Given the description of an element on the screen output the (x, y) to click on. 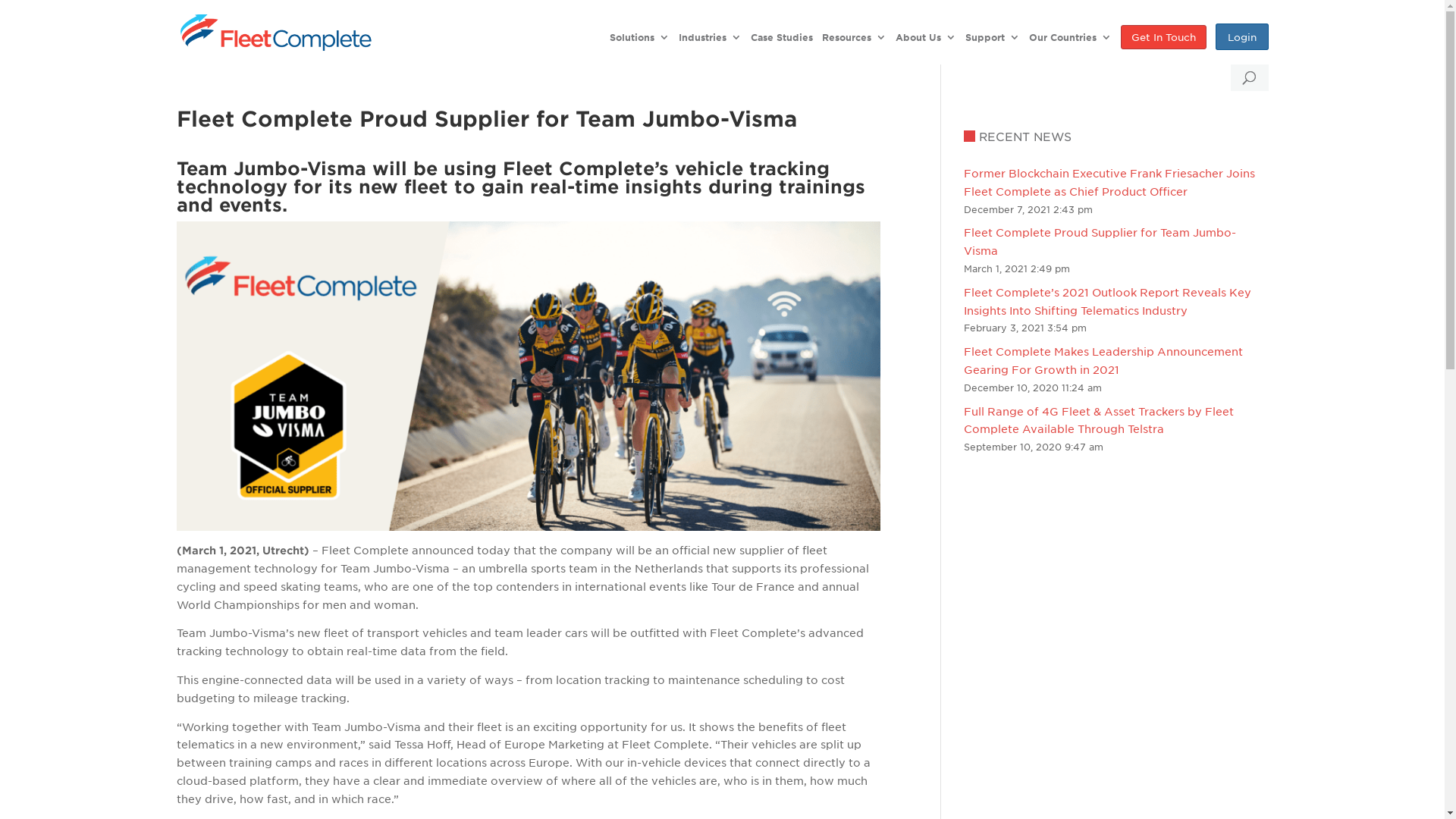
Get In Touch Element type: text (1163, 40)
Support Element type: text (991, 40)
Case Studies Element type: text (781, 40)
Our Countries Element type: text (1069, 40)
Industries Element type: text (708, 40)
Login Element type: text (1240, 40)
Fleet Complete Proud Supplier for Team Jumbo-Visma Element type: text (1099, 241)
Resources Element type: text (854, 40)
About Us Element type: text (924, 40)
Solutions Element type: text (639, 40)
Skip to content Element type: text (0, 0)
